Given the description of an element on the screen output the (x, y) to click on. 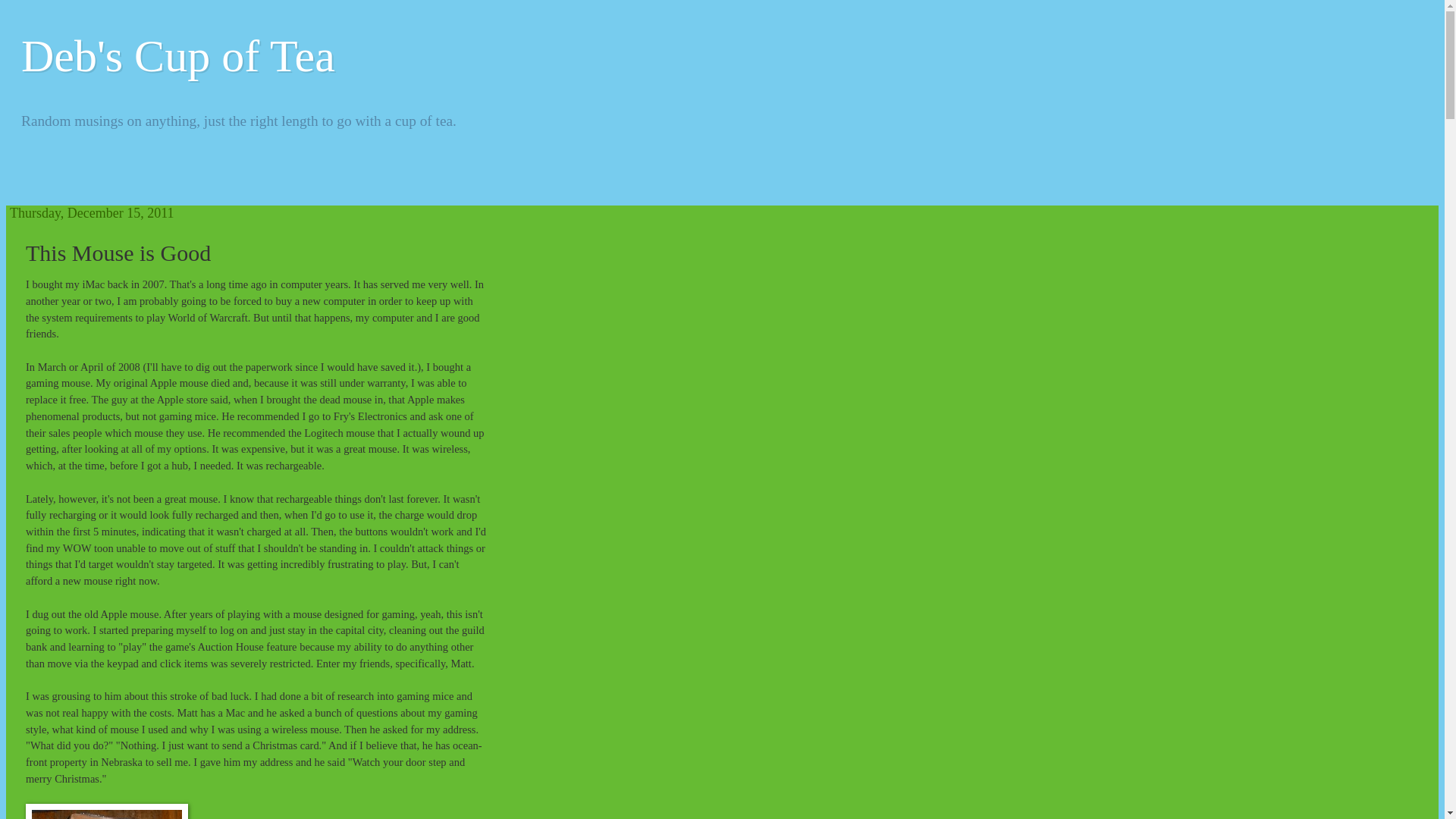
Deb's Cup of Tea (177, 56)
